Given the description of an element on the screen output the (x, y) to click on. 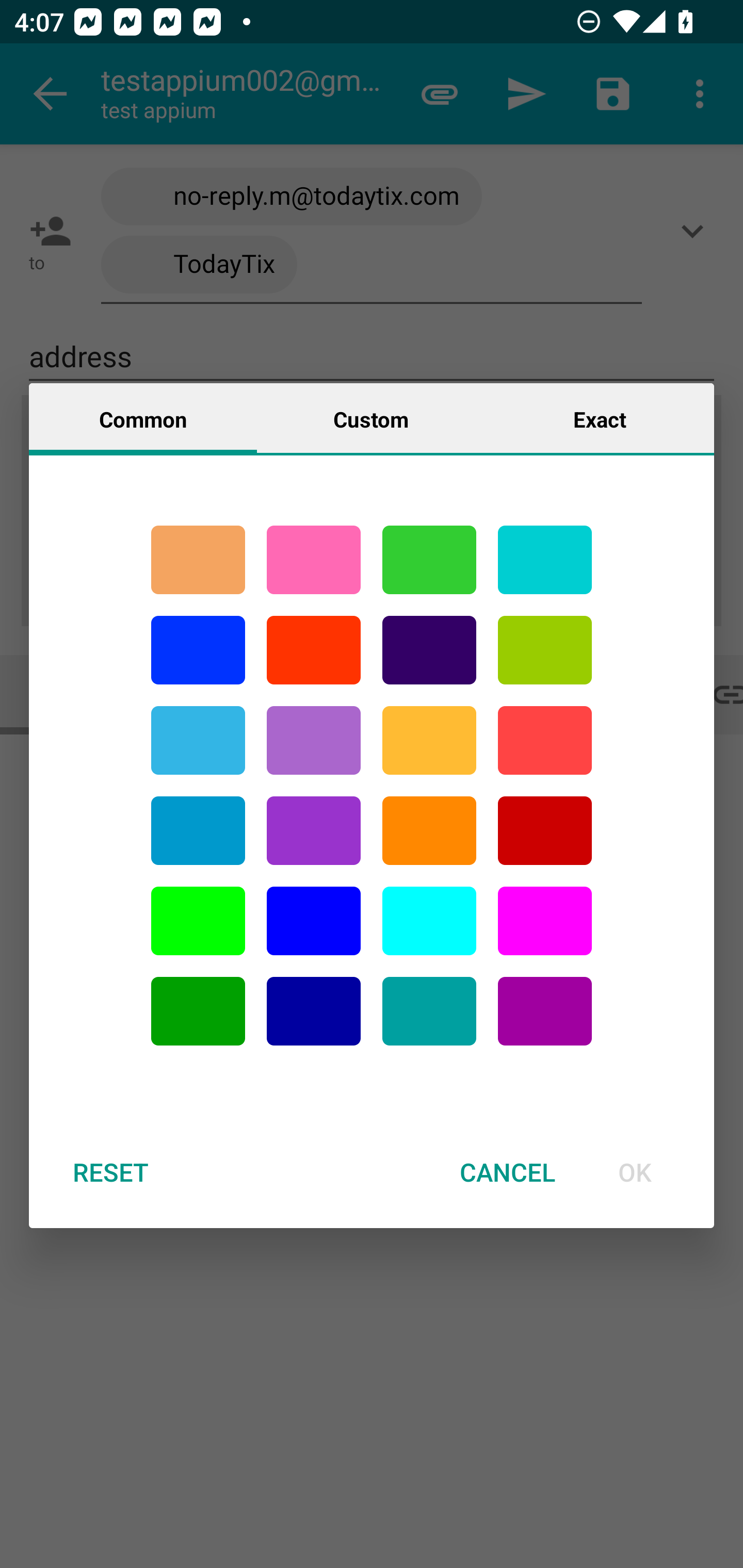
Common (142, 418)
Custom (371, 418)
Exact (599, 418)
Peach (197, 559)
Pink (313, 559)
Green (429, 559)
Cyan (544, 559)
Blue (197, 649)
Red (313, 649)
Dark purple (429, 649)
Light green (544, 649)
Cyan (197, 739)
Purple (313, 739)
Light orange (429, 739)
Light red (544, 739)
Dark cyan (197, 830)
Purple (313, 830)
Orange (429, 830)
Dark red (544, 830)
Light green (197, 920)
Blue (313, 920)
Light cyan (429, 920)
Light purple (544, 920)
Dark green (197, 1010)
Dark blue (313, 1010)
Cyan (429, 1010)
Purple (544, 1010)
RESET (110, 1171)
CANCEL (507, 1171)
OK (634, 1171)
